Given the description of an element on the screen output the (x, y) to click on. 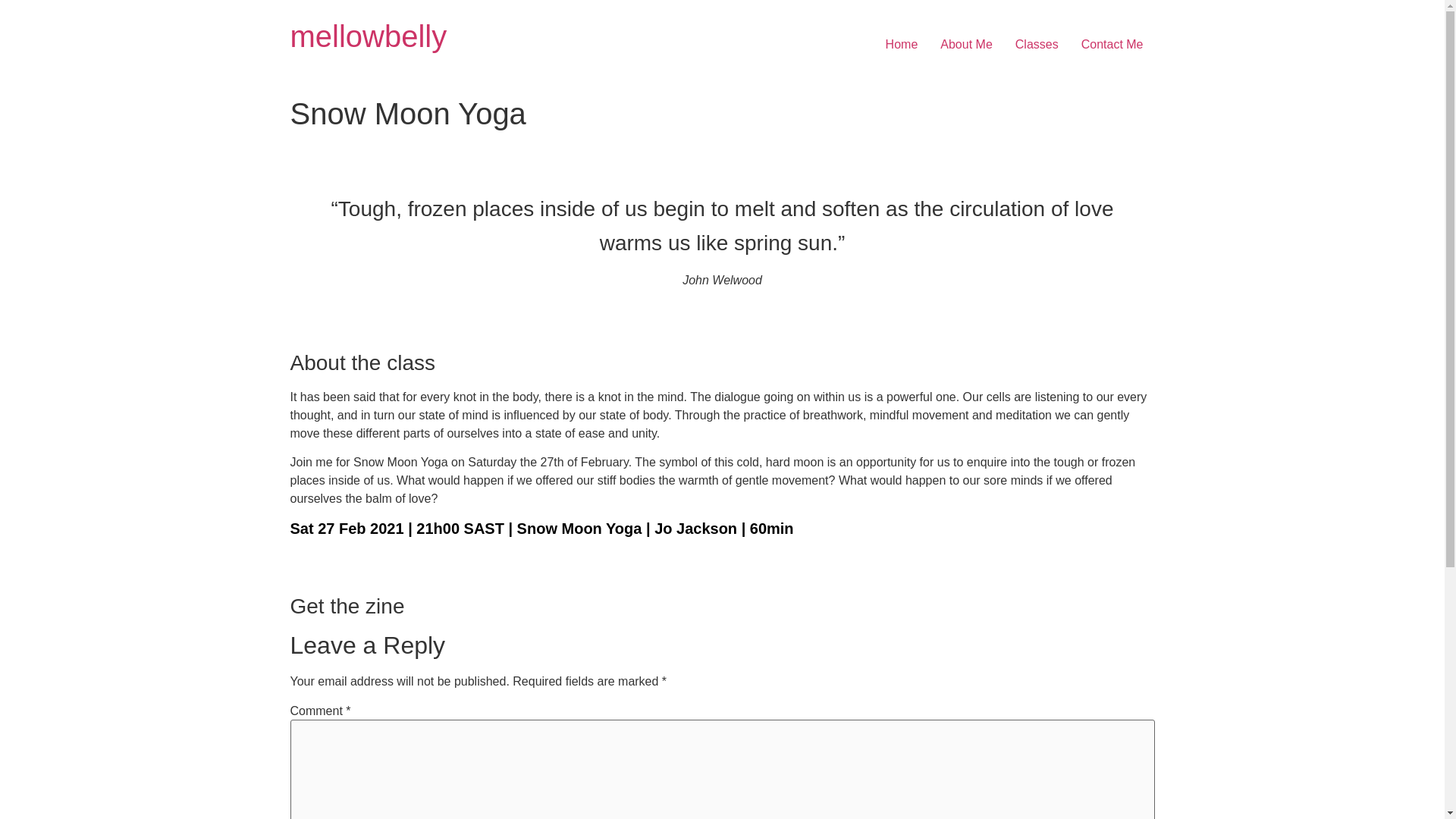
Classes (1037, 44)
Home (902, 44)
Contact Me (1112, 44)
About Me (965, 44)
Home (367, 36)
mellowbelly (367, 36)
